Given the description of an element on the screen output the (x, y) to click on. 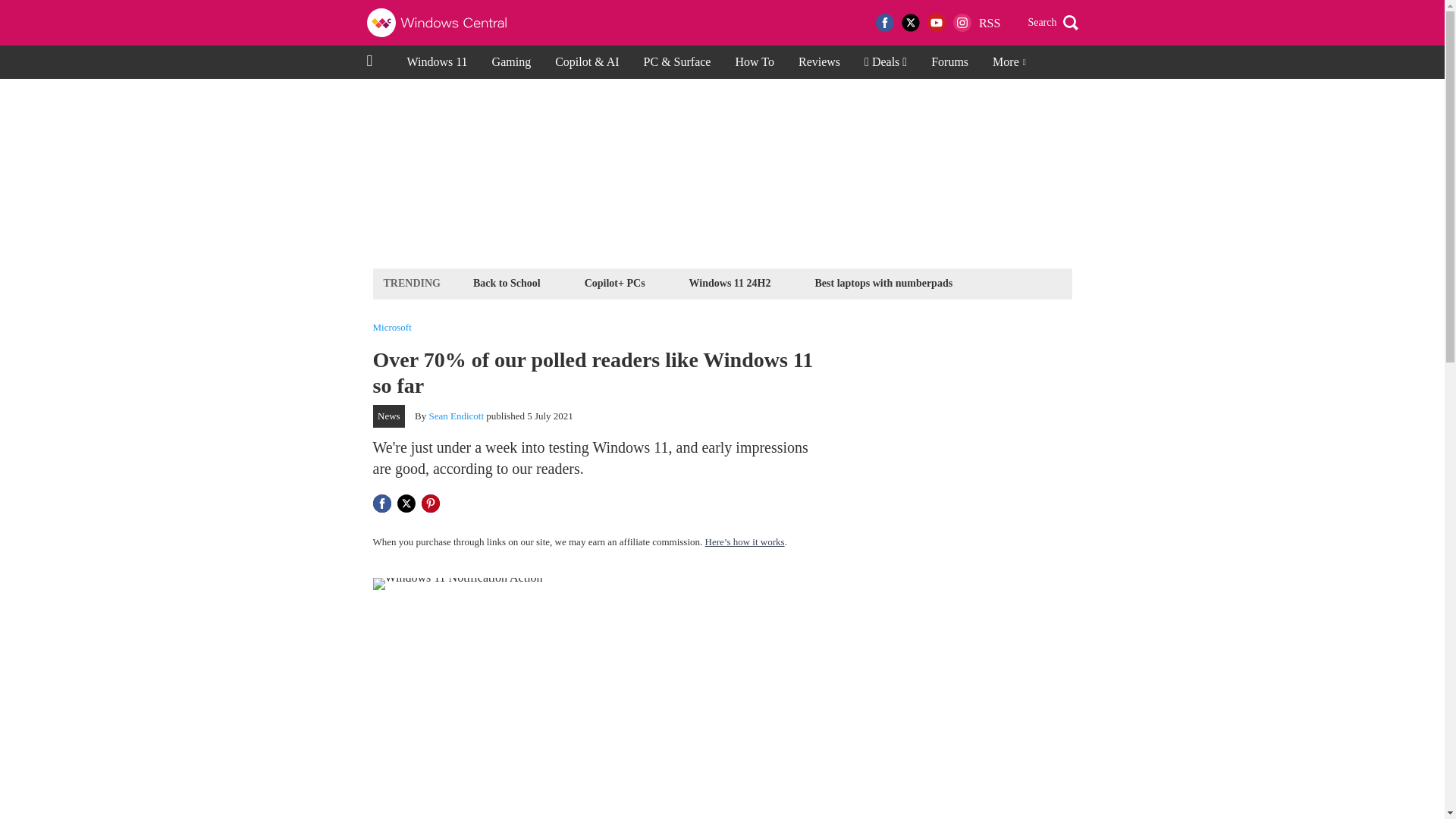
News (389, 415)
Windows 11 (436, 61)
Forums (948, 61)
How To (754, 61)
Best laptops with numberpads (883, 282)
Windows 11 24H2 (730, 282)
Back to School (506, 282)
Reviews (818, 61)
Sean Endicott (456, 415)
RSS (989, 22)
